Given the description of an element on the screen output the (x, y) to click on. 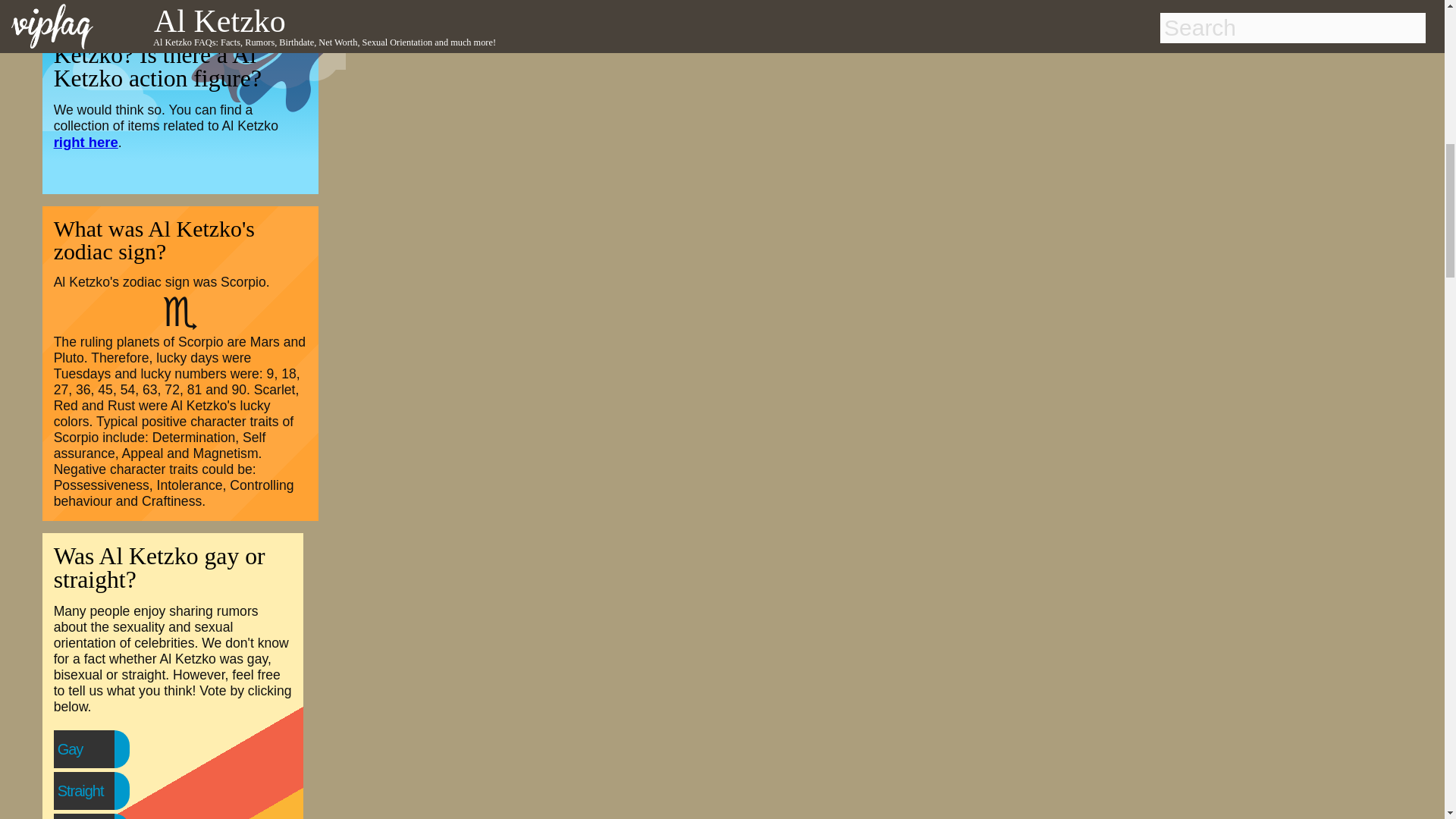
Straight (111, 790)
right here (85, 141)
Bi (94, 817)
Gay (101, 748)
